Given the description of an element on the screen output the (x, y) to click on. 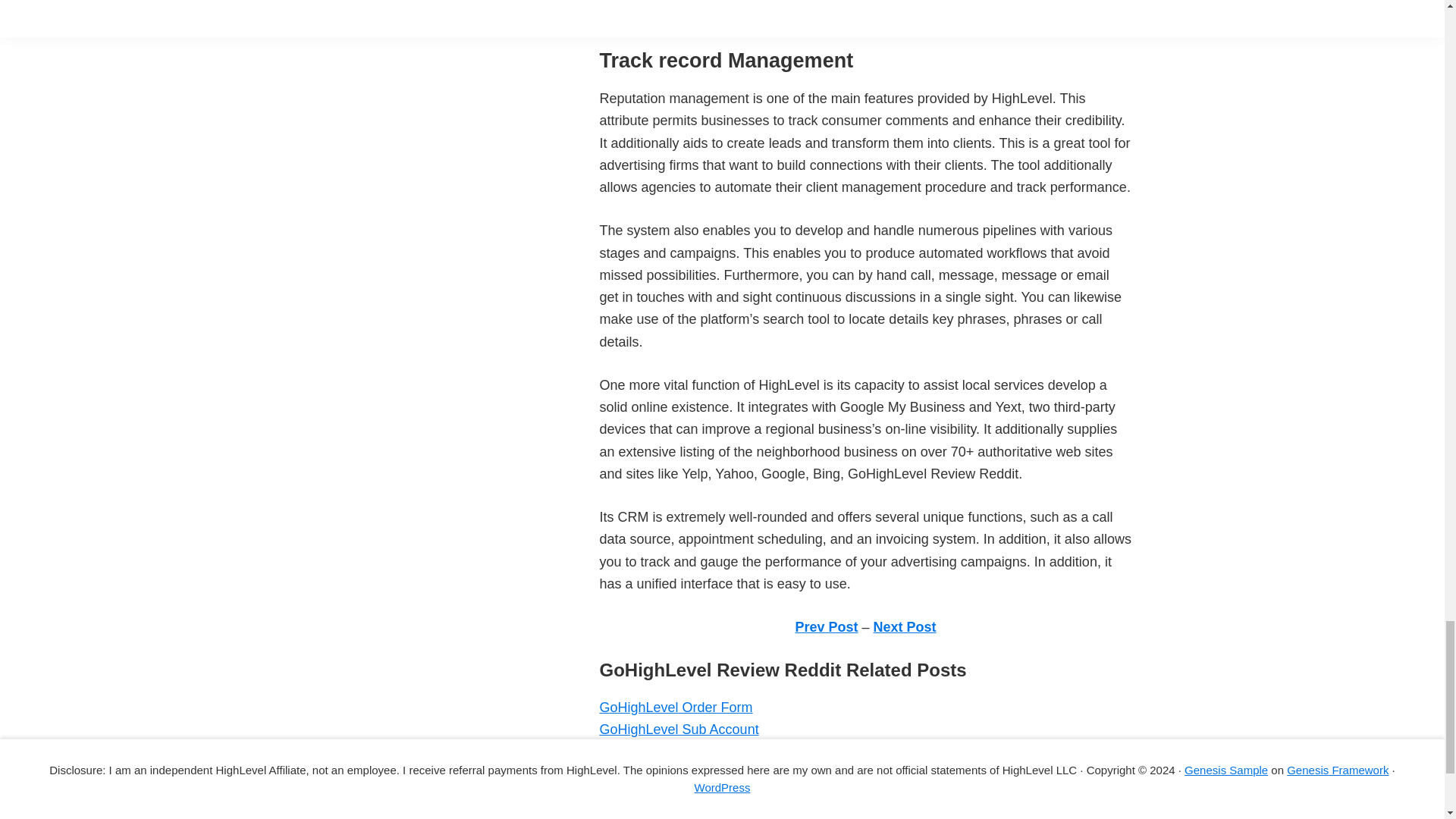
Mailgun GoHighLevel (663, 752)
GoHighLevel Order Form (675, 707)
Mailgun GoHighLevel (663, 752)
Prev Post (825, 626)
GoHighLevel Order Form (675, 707)
GoHighLevel Sub Account (678, 729)
GoHighLevel Sub Account (678, 729)
Next Post (904, 626)
GoHighLevel Custom Fields (683, 814)
GoHighLevel Custom Fields (683, 814)
